Given the description of an element on the screen output the (x, y) to click on. 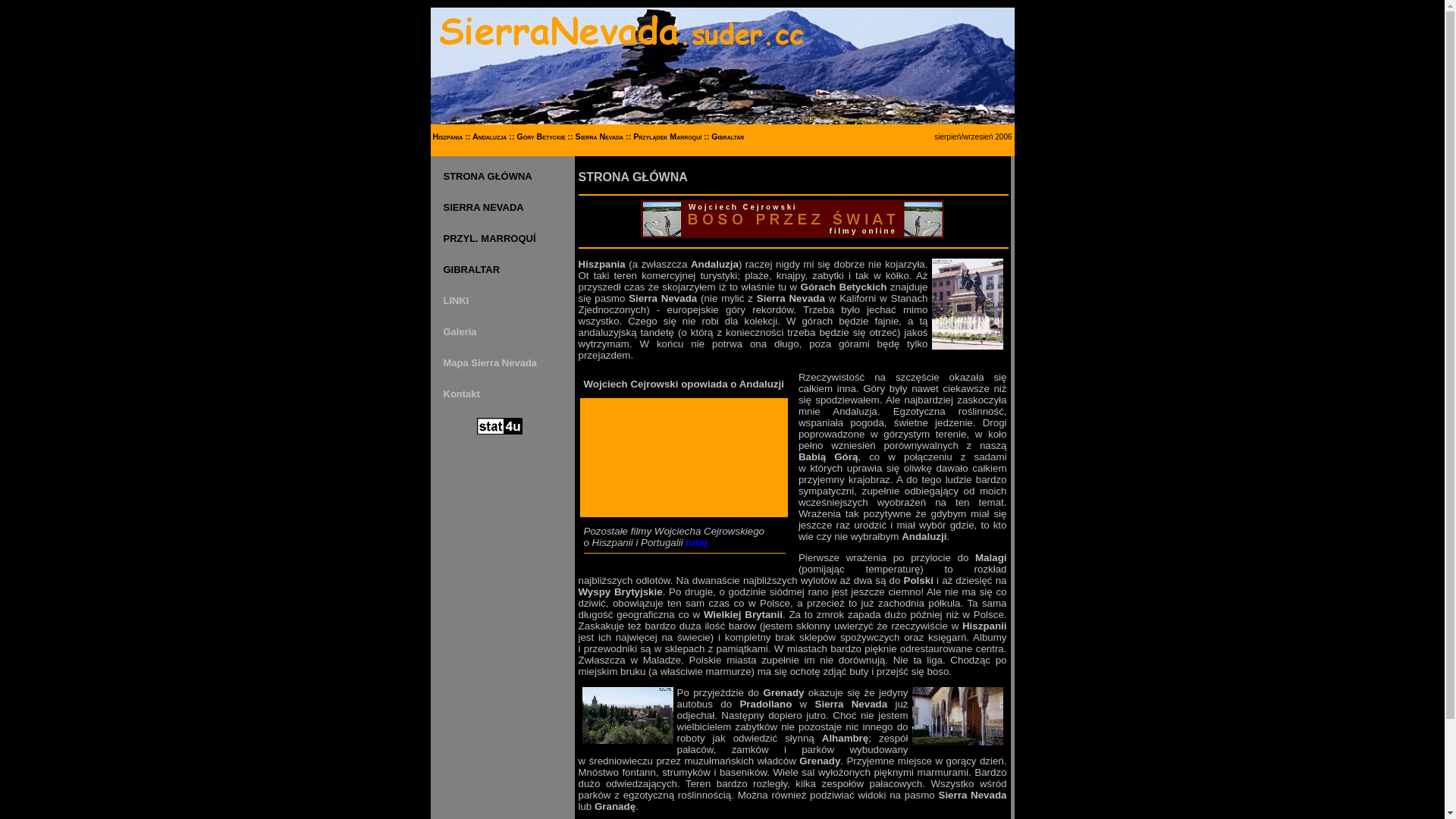
GIBRALTAR Element type: text (470, 269)
Galeria Element type: text (459, 331)
tutaj Element type: text (695, 542)
Kontakt Element type: text (460, 393)
Mapa Sierra Nevada Element type: text (489, 362)
SIERRA NEVADA Element type: text (482, 207)
LINKI Element type: text (455, 300)
